Given the description of an element on the screen output the (x, y) to click on. 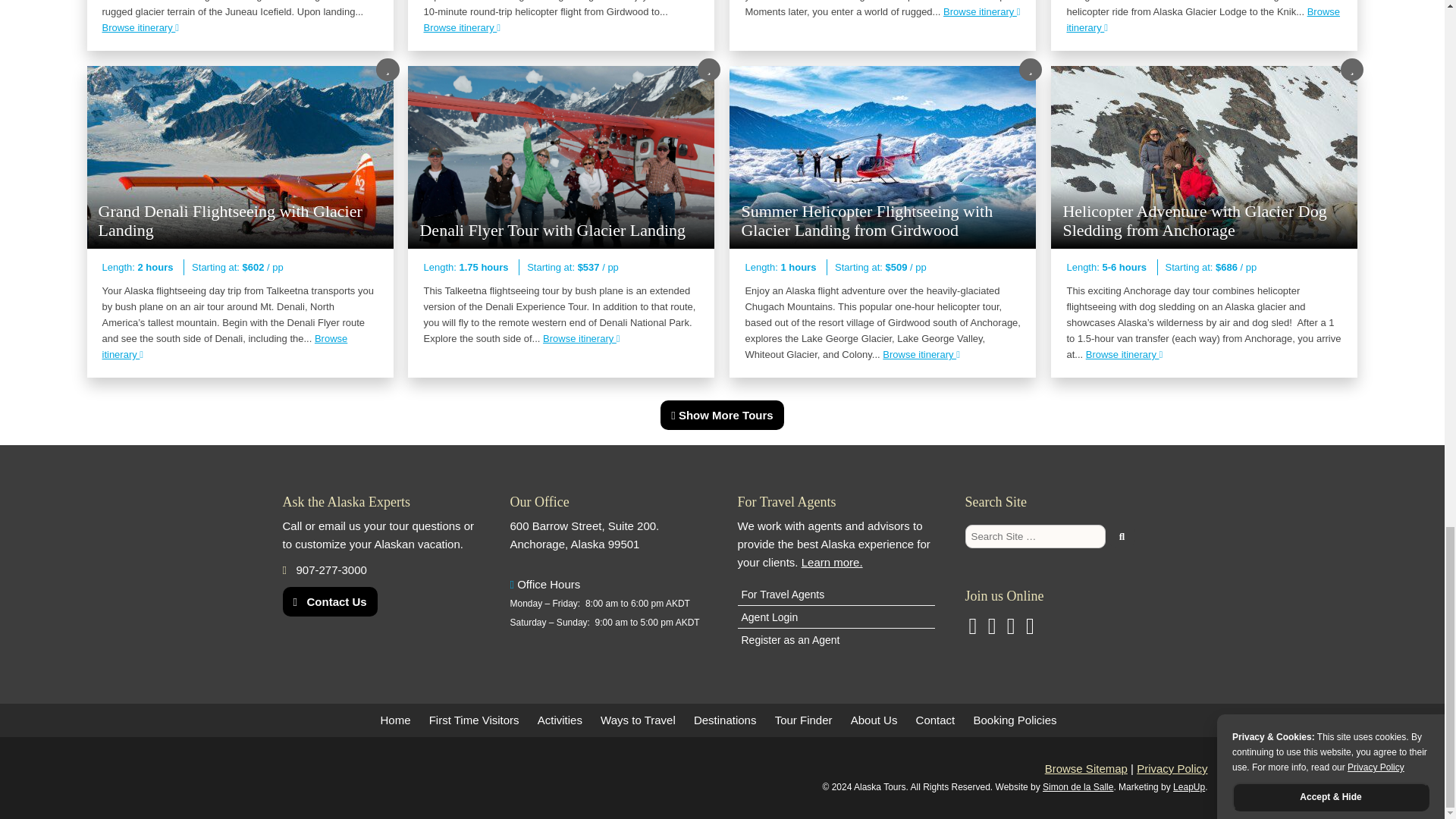
Glacier Dog Sledding Day Tour from Girdwood (461, 27)
Facebook (1030, 629)
Denali Flightseeing Experience from Talkeetna (981, 11)
Helicopter Flightseeing with Glacier Landing (1202, 19)
Instagram (971, 629)
Grand Denali Flightseeing with Glacier Landing (224, 346)
Denali Flyer Tour with Glacier Landing (581, 337)
Pinterest (1011, 629)
Twitter (992, 629)
